Given the description of an element on the screen output the (x, y) to click on. 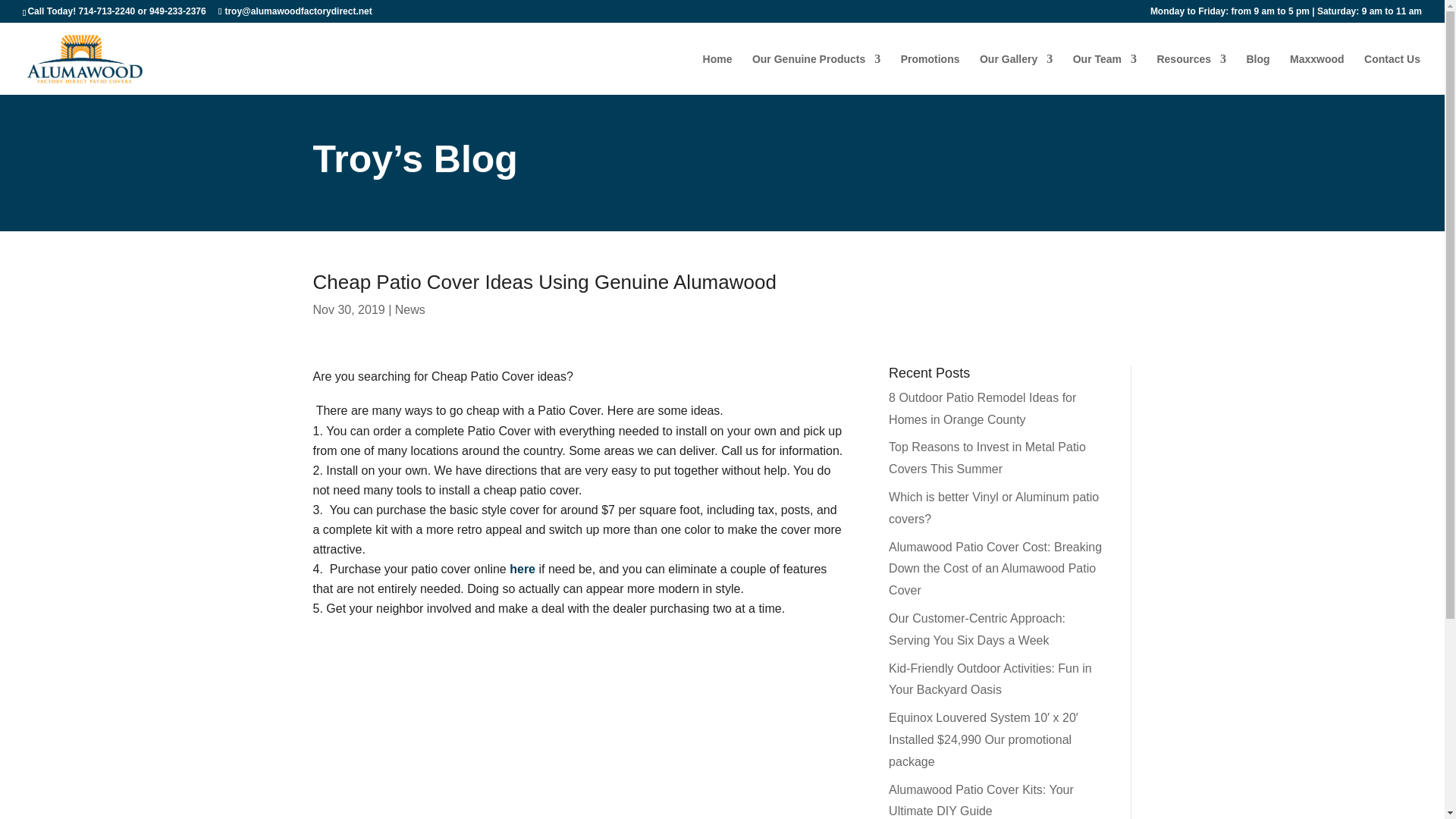
949-233-2376 (177, 10)
Our Gallery (1015, 74)
Resources (1190, 74)
Contact Us (1392, 74)
How to contact us. (1392, 74)
714-713-2240 (106, 10)
Maxxwood (1316, 74)
Patio Cover service personel (1105, 74)
Our Genuine Products (816, 74)
Promotions (930, 74)
Our Team (1105, 74)
